Given the description of an element on the screen output the (x, y) to click on. 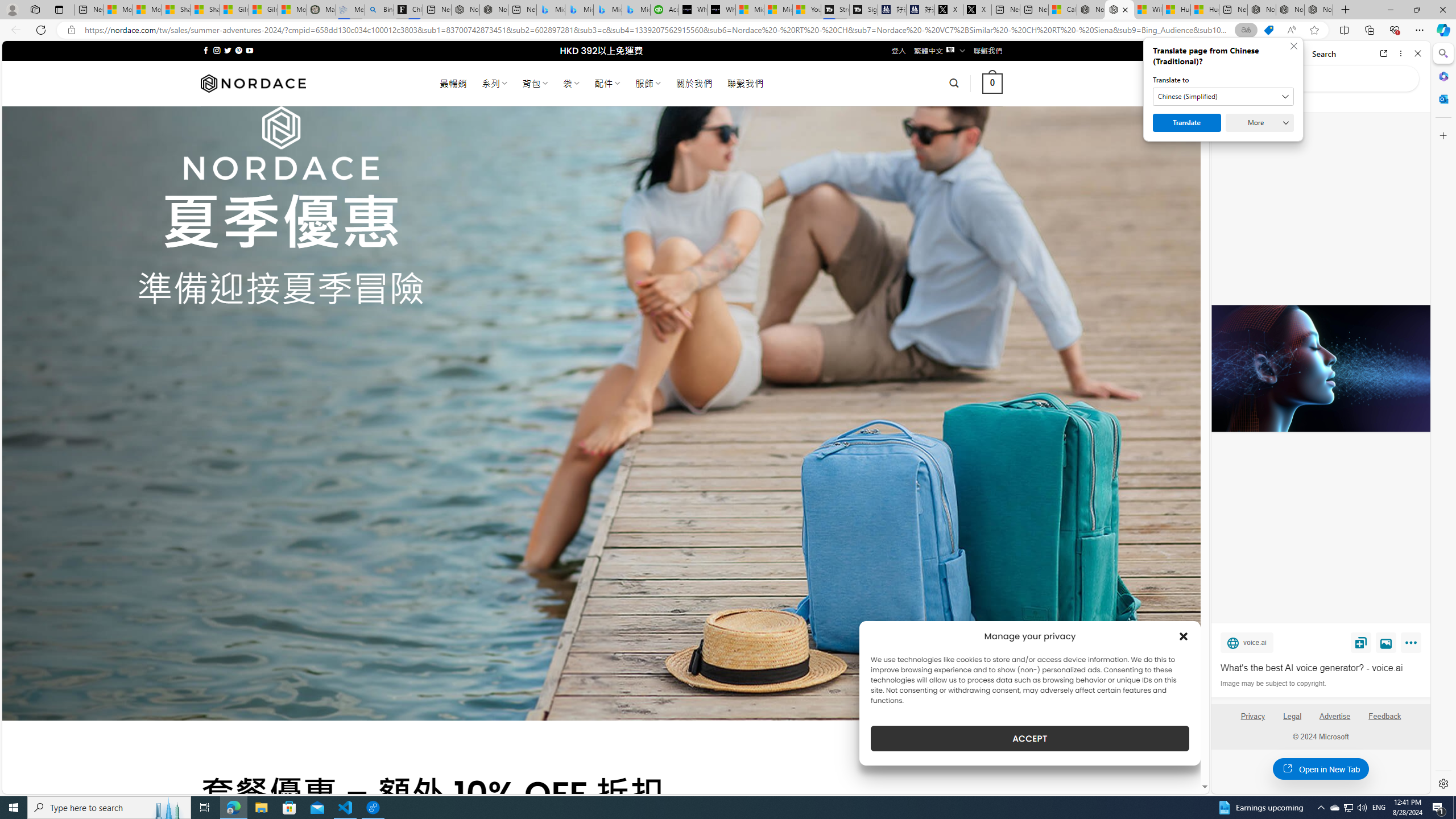
Search the web (1326, 78)
Advertise (1334, 720)
Settings and more (Alt+F) (1419, 29)
New Tab (1346, 9)
Personal Profile (12, 9)
More options (1401, 53)
Chloe Sorvino (408, 9)
Nordace (252, 83)
Accounting Software for Accountants, CPAs and Bookkeepers (664, 9)
